Given the description of an element on the screen output the (x, y) to click on. 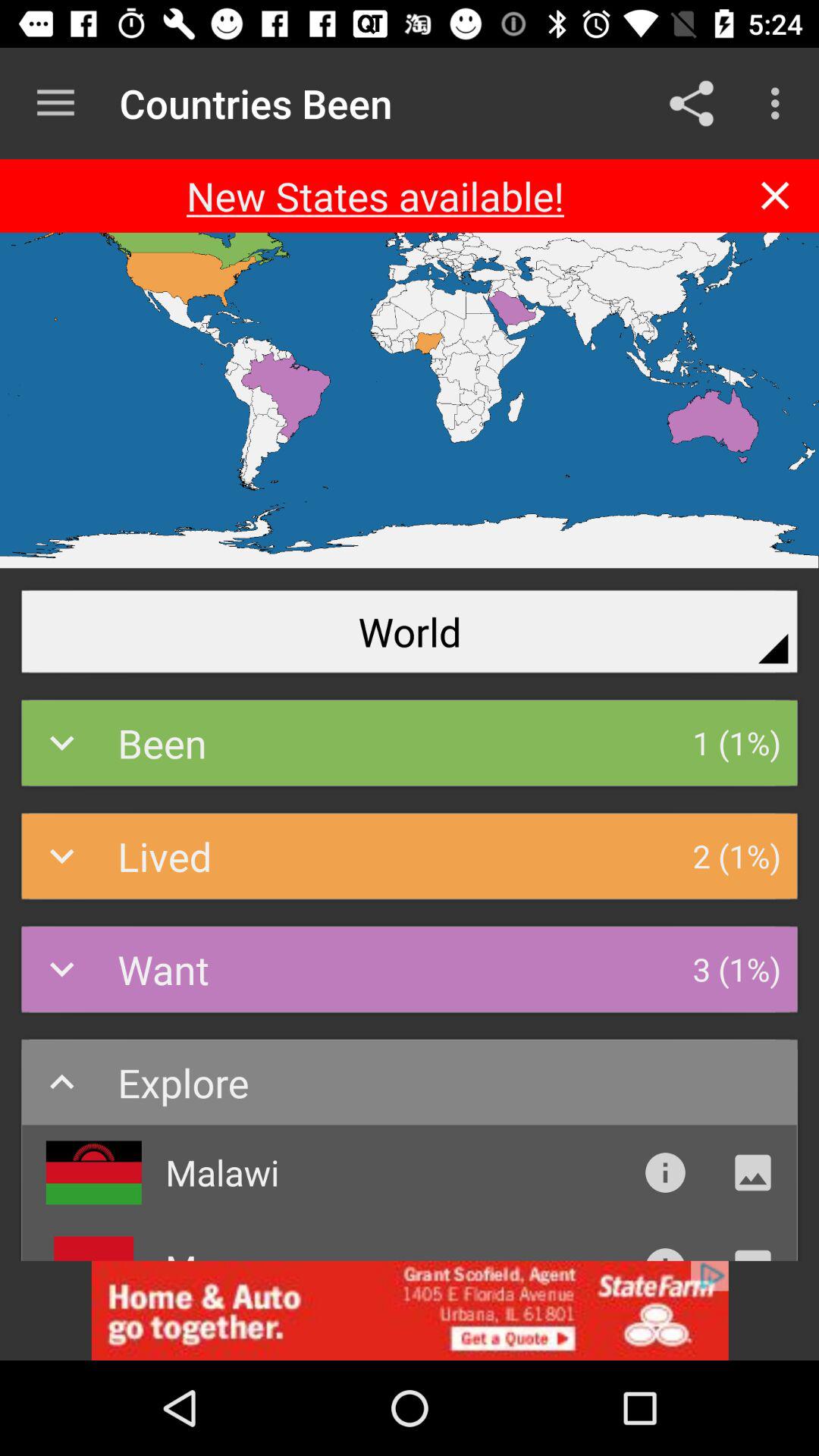
open settings (55, 103)
